Given the description of an element on the screen output the (x, y) to click on. 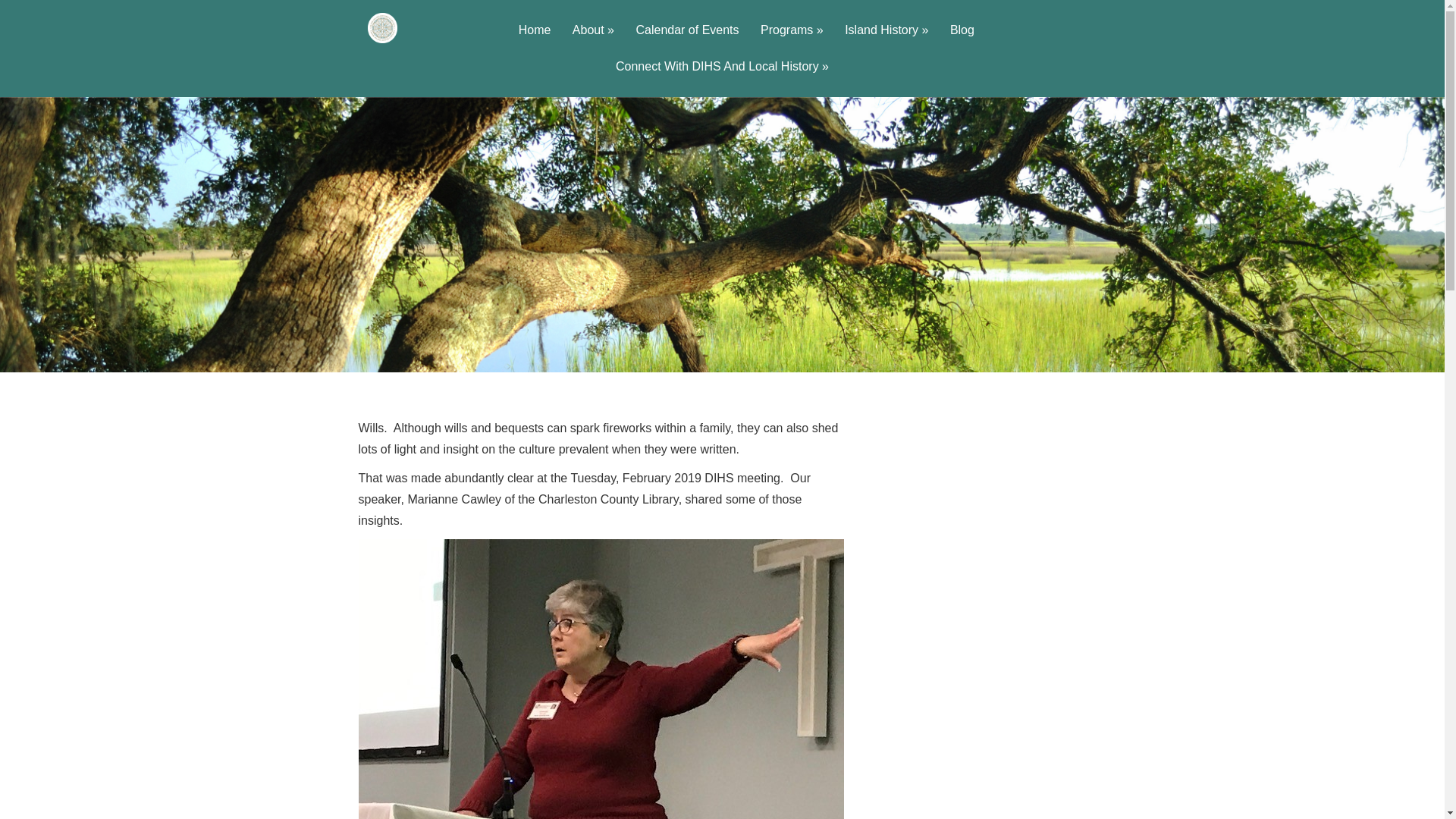
Calendar of Events (687, 42)
About (593, 42)
Home (534, 42)
Programs (791, 42)
